Given the description of an element on the screen output the (x, y) to click on. 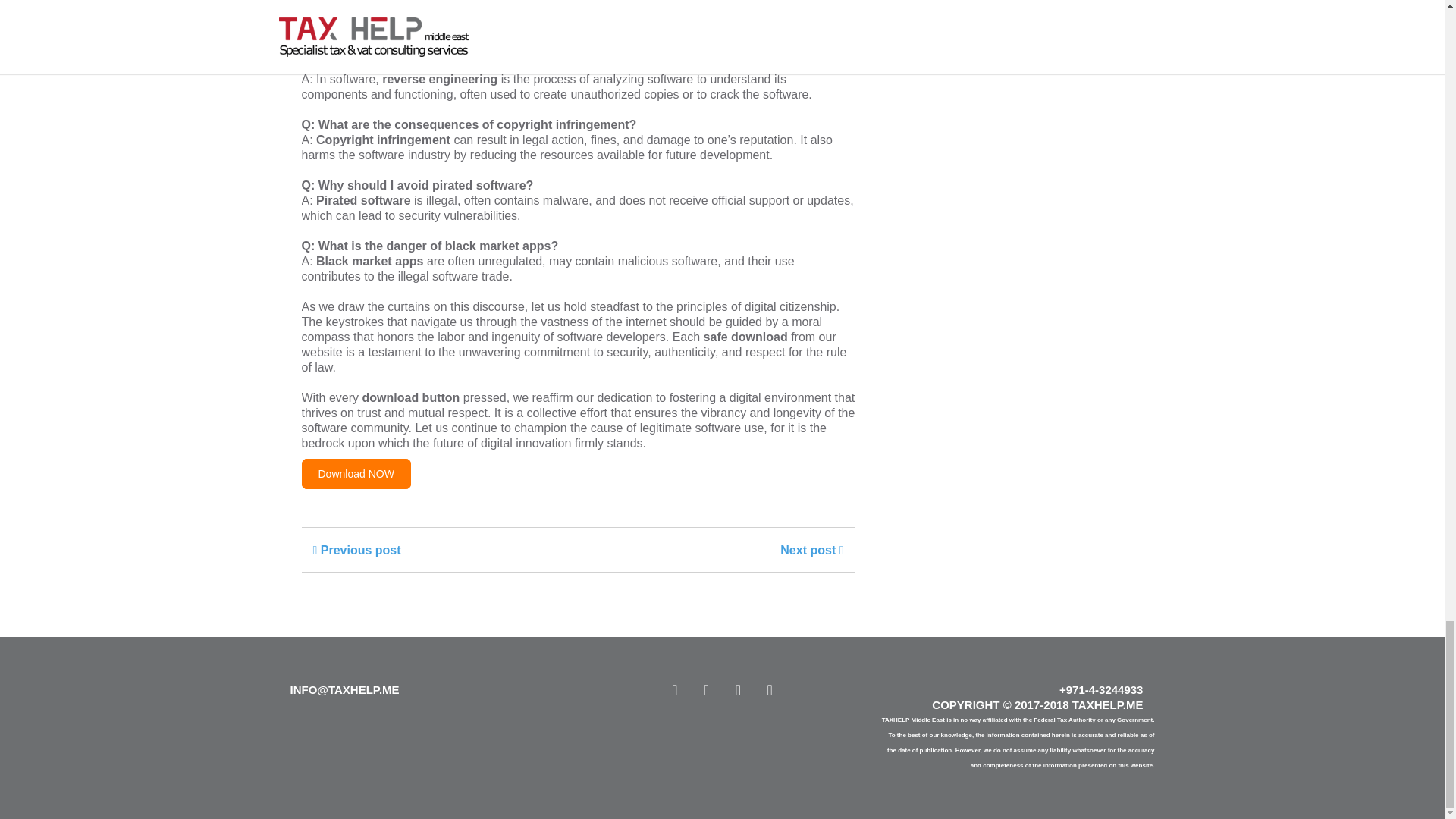
Next post  (811, 549)
 Previous post (356, 549)
Download NOW (355, 473)
 Download NOW (355, 473)
